Given the description of an element on the screen output the (x, y) to click on. 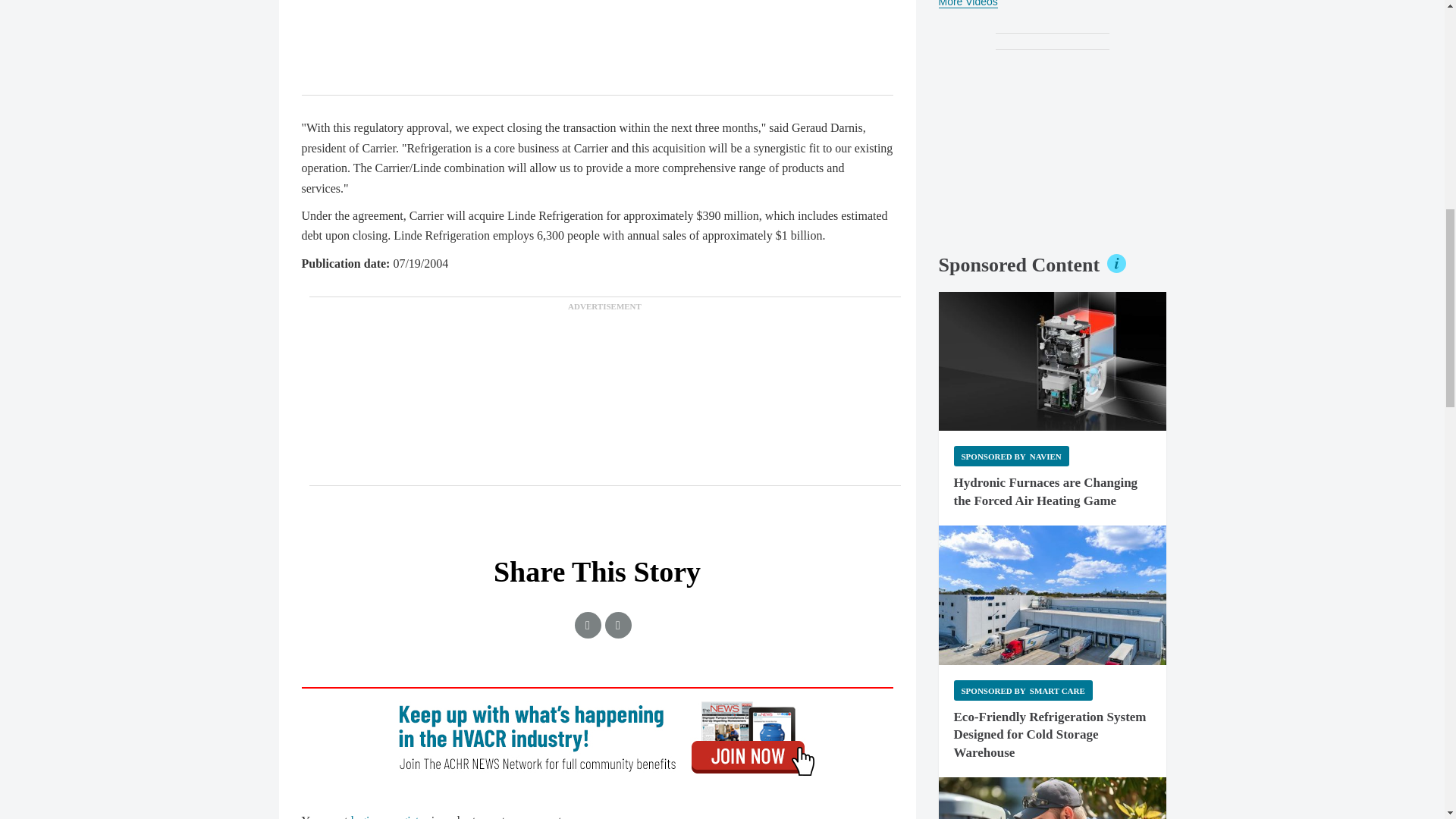
Texas Frio Cold Storage (1052, 595)
Sponsored by Navien (1010, 455)
Hydronic Forced Air Furnace Diagram (1052, 361)
Sponsored by Smart Care (1023, 690)
Technician Working on HVAC Unit (1052, 798)
